Given the description of an element on the screen output the (x, y) to click on. 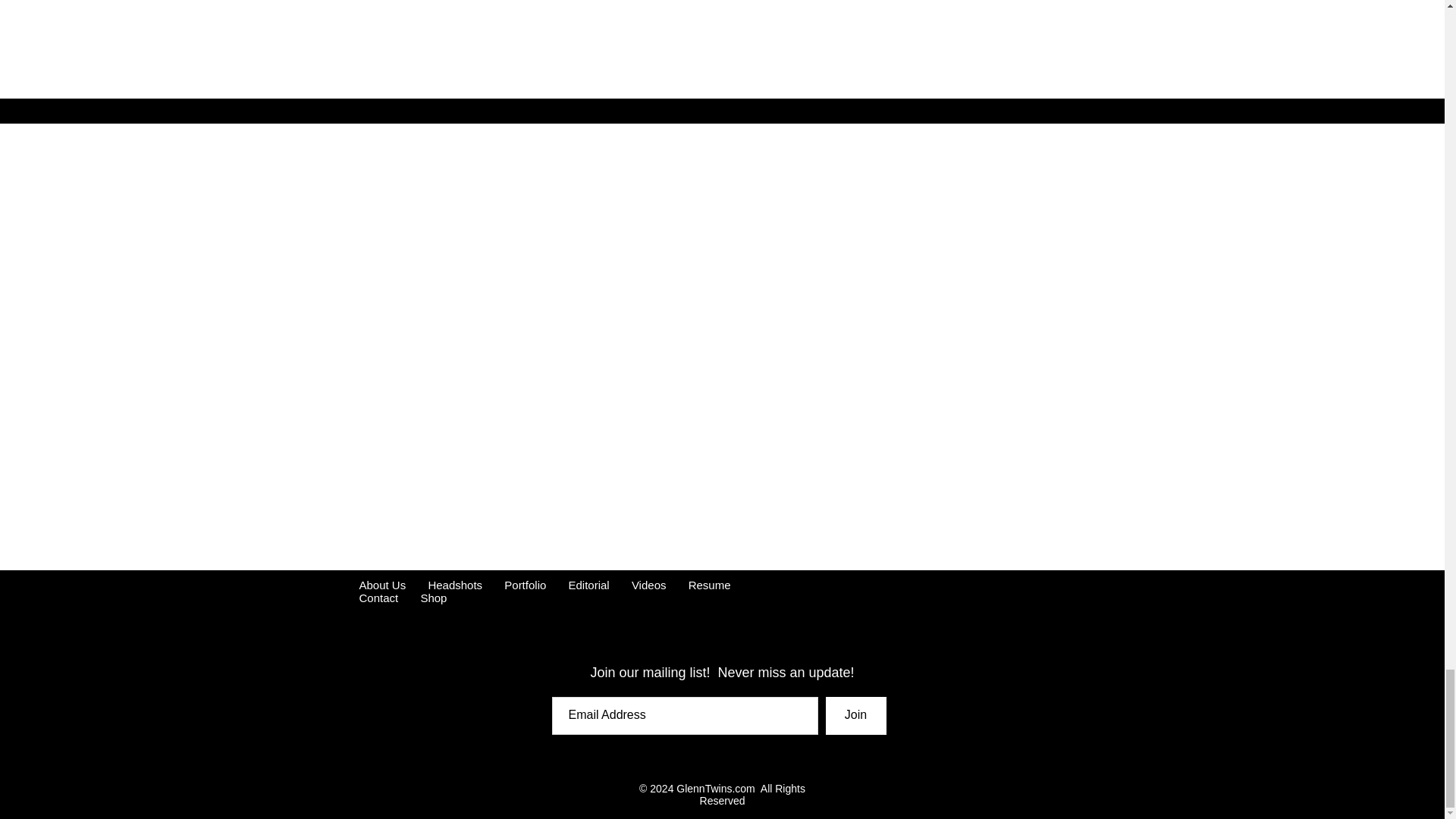
Videos (648, 584)
About Us (382, 584)
  Shop (429, 597)
Contact  (380, 597)
Portfolio (524, 584)
Resume  (710, 584)
 Headshots (451, 584)
Editoria (588, 584)
